Given the description of an element on the screen output the (x, y) to click on. 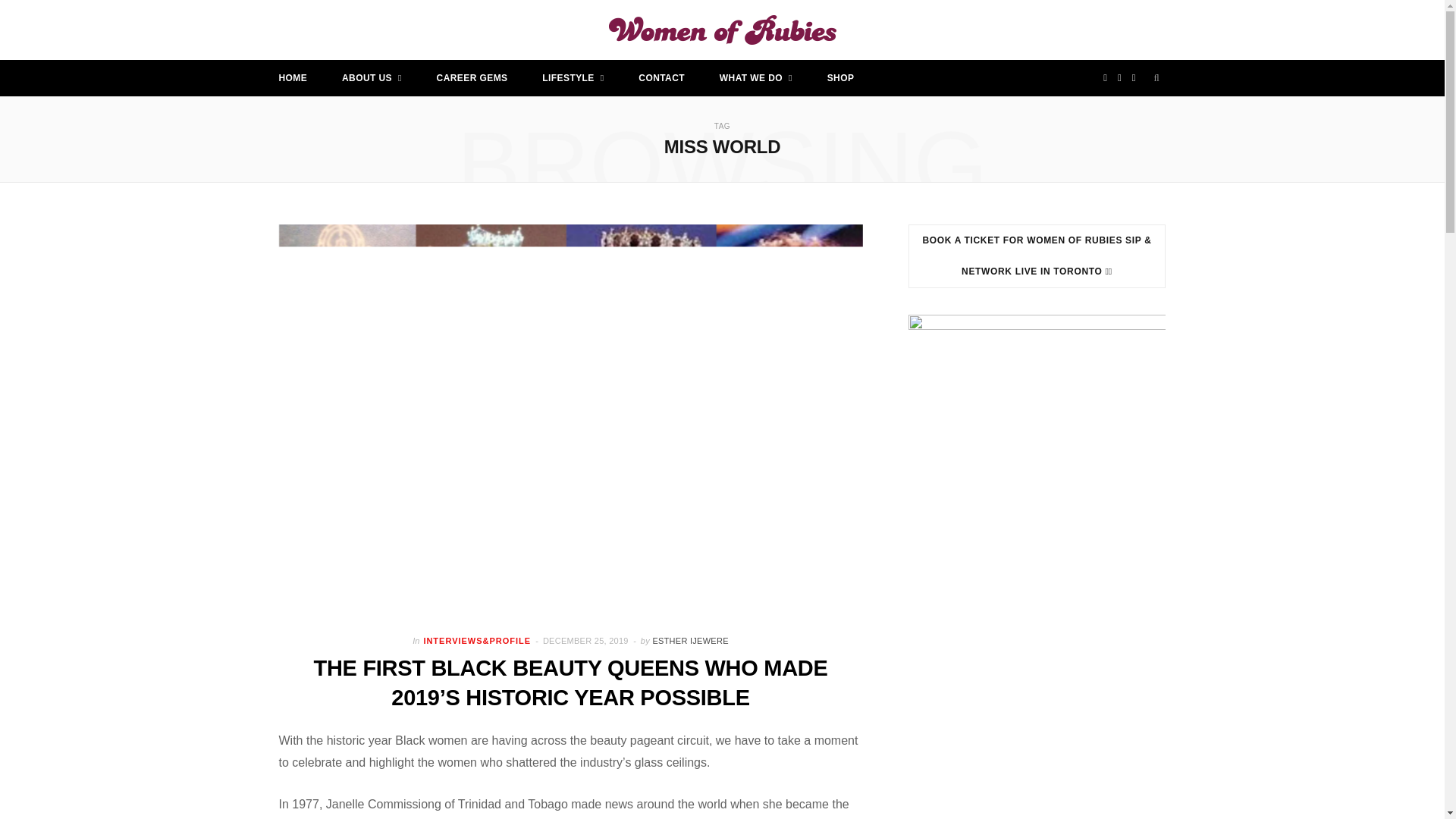
CONTACT (661, 77)
SHOP (840, 77)
Women of Rubies (721, 30)
Posts by Esther Ijewere (690, 640)
ABOUT US (371, 77)
LIFESTYLE (572, 77)
DECEMBER 25, 2019 (586, 640)
ESTHER IJEWERE (690, 640)
CAREER GEMS (472, 77)
HOME (292, 77)
